Given the description of an element on the screen output the (x, y) to click on. 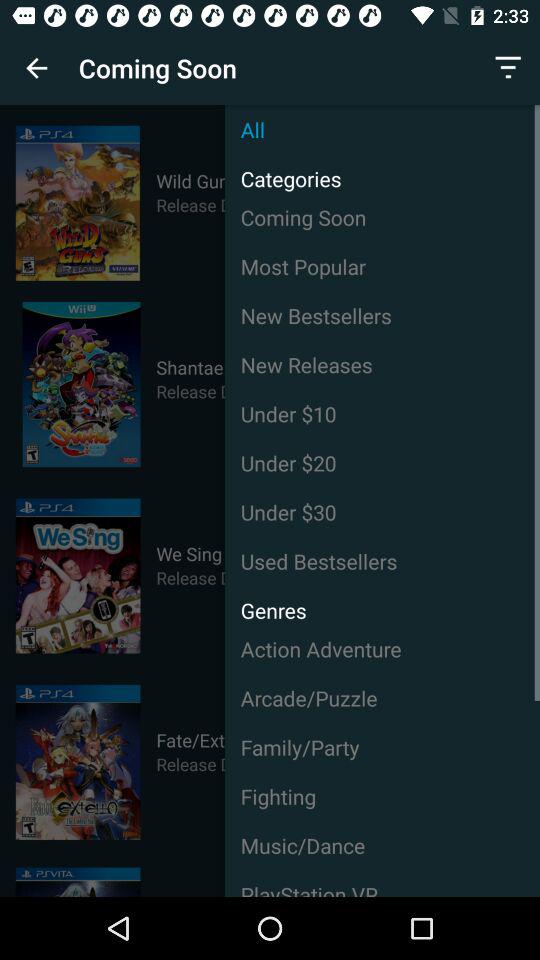
press the item next to the coming soon app (36, 68)
